Given the description of an element on the screen output the (x, y) to click on. 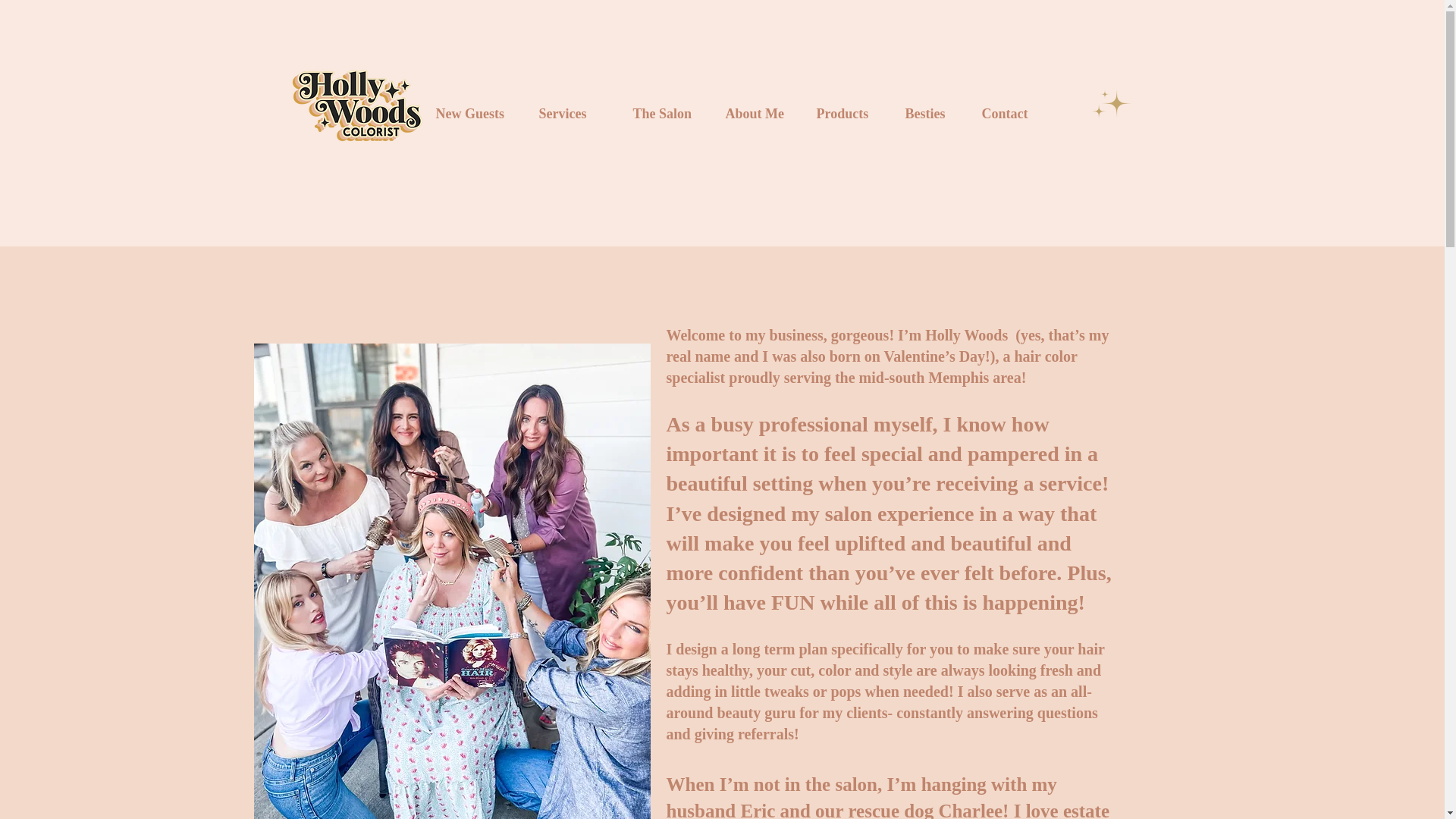
New Guests (469, 113)
The Salon (661, 113)
About Me (754, 113)
Contact (1004, 113)
Products (841, 113)
Services (562, 113)
Besties (924, 113)
